Given the description of an element on the screen output the (x, y) to click on. 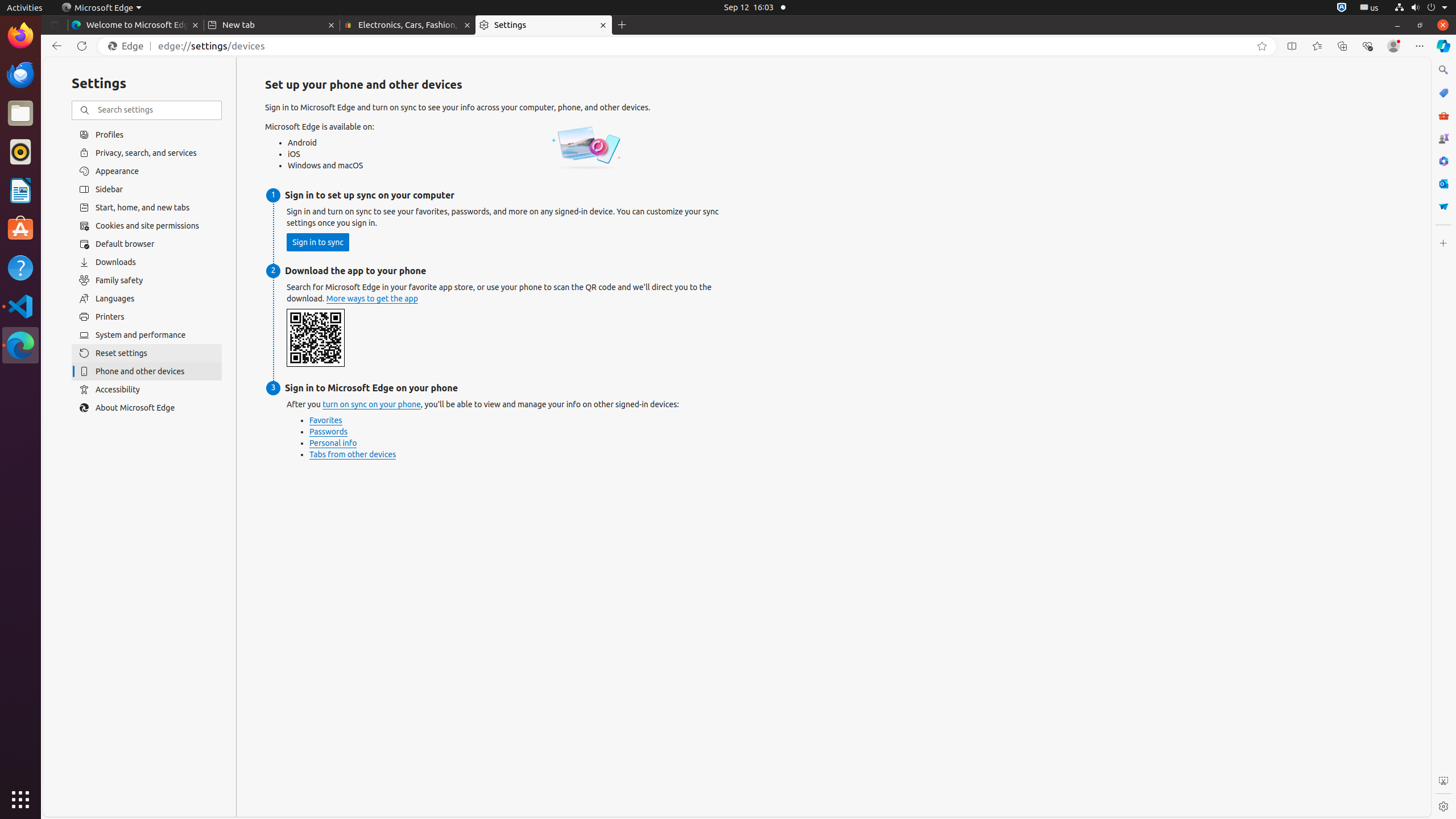
Family safety Element type: tree-item (146, 280)
